Given the description of an element on the screen output the (x, y) to click on. 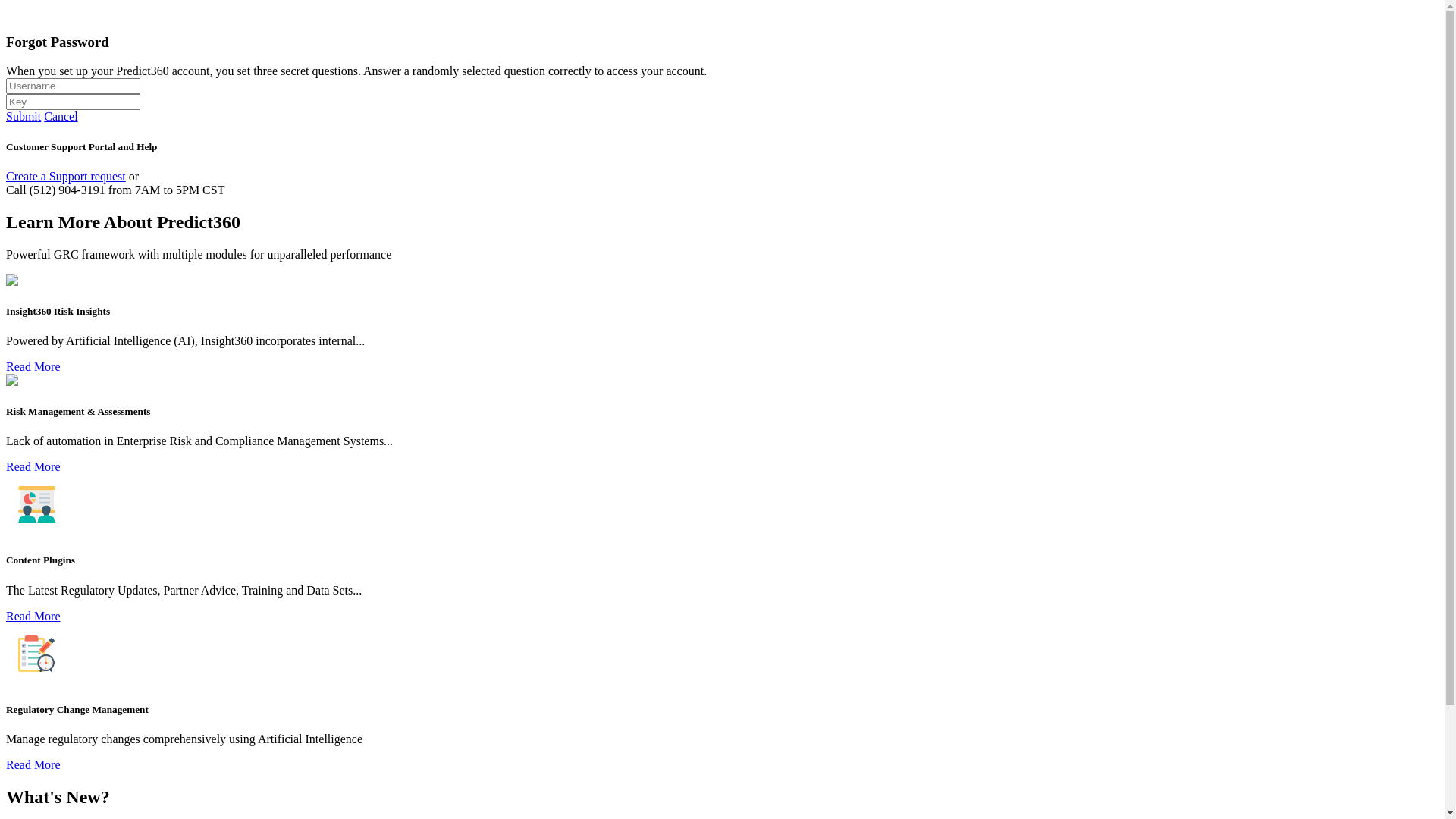
Read More Element type: text (33, 615)
Read More Element type: text (33, 764)
Read More Element type: text (33, 466)
Read More Element type: text (33, 366)
Cancel Element type: text (60, 115)
Create a Support request Element type: text (65, 175)
Submit Element type: text (23, 115)
